Given the description of an element on the screen output the (x, y) to click on. 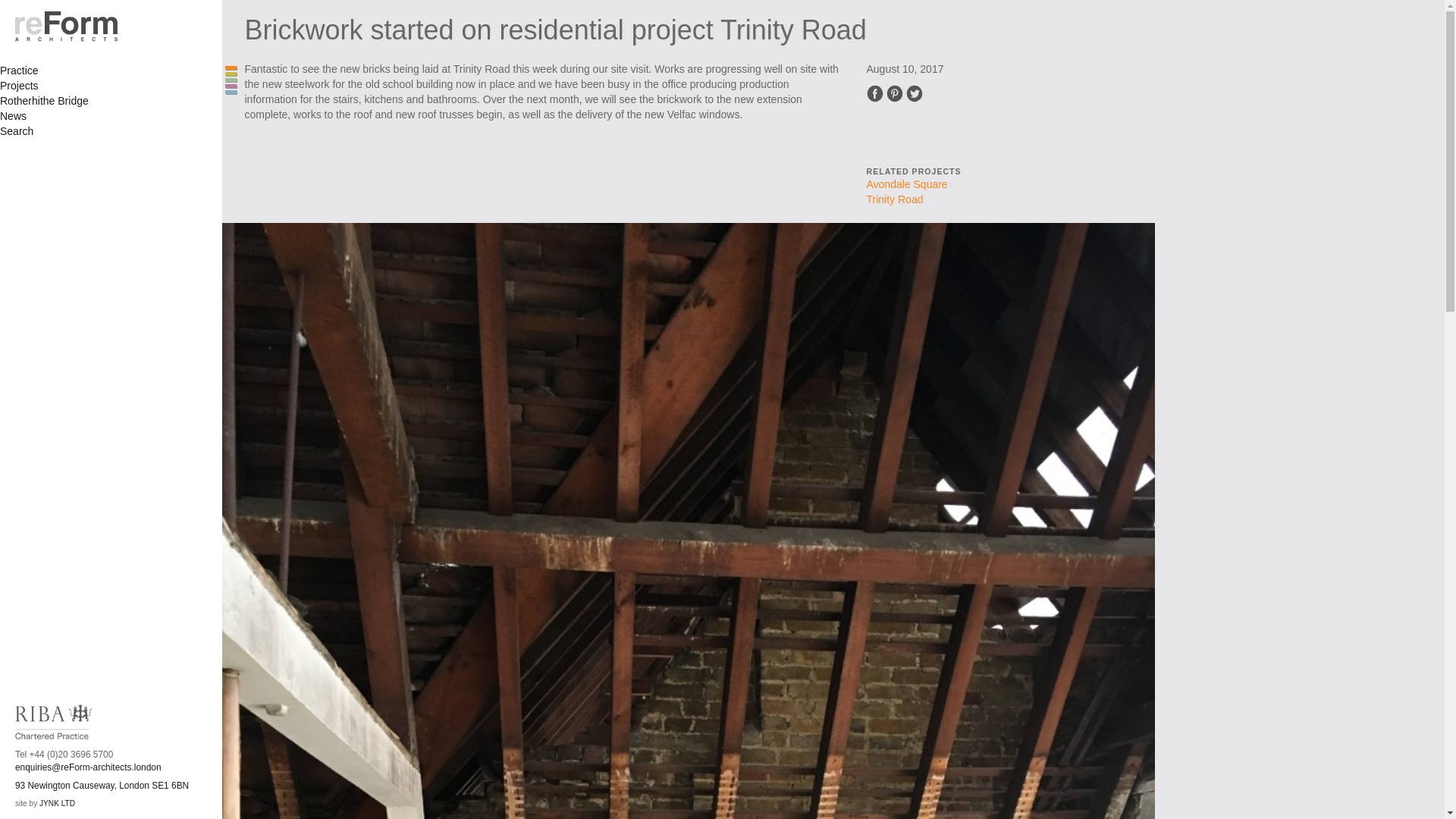
Search (16, 131)
reForm Architects, London (76, 26)
News (13, 115)
Pinterest (894, 93)
Practice (19, 70)
Avondale Square (906, 184)
Rotherhithe Bridge (44, 101)
Twitter (914, 93)
Trinity Road (894, 199)
Facebook (874, 93)
